Given the description of an element on the screen output the (x, y) to click on. 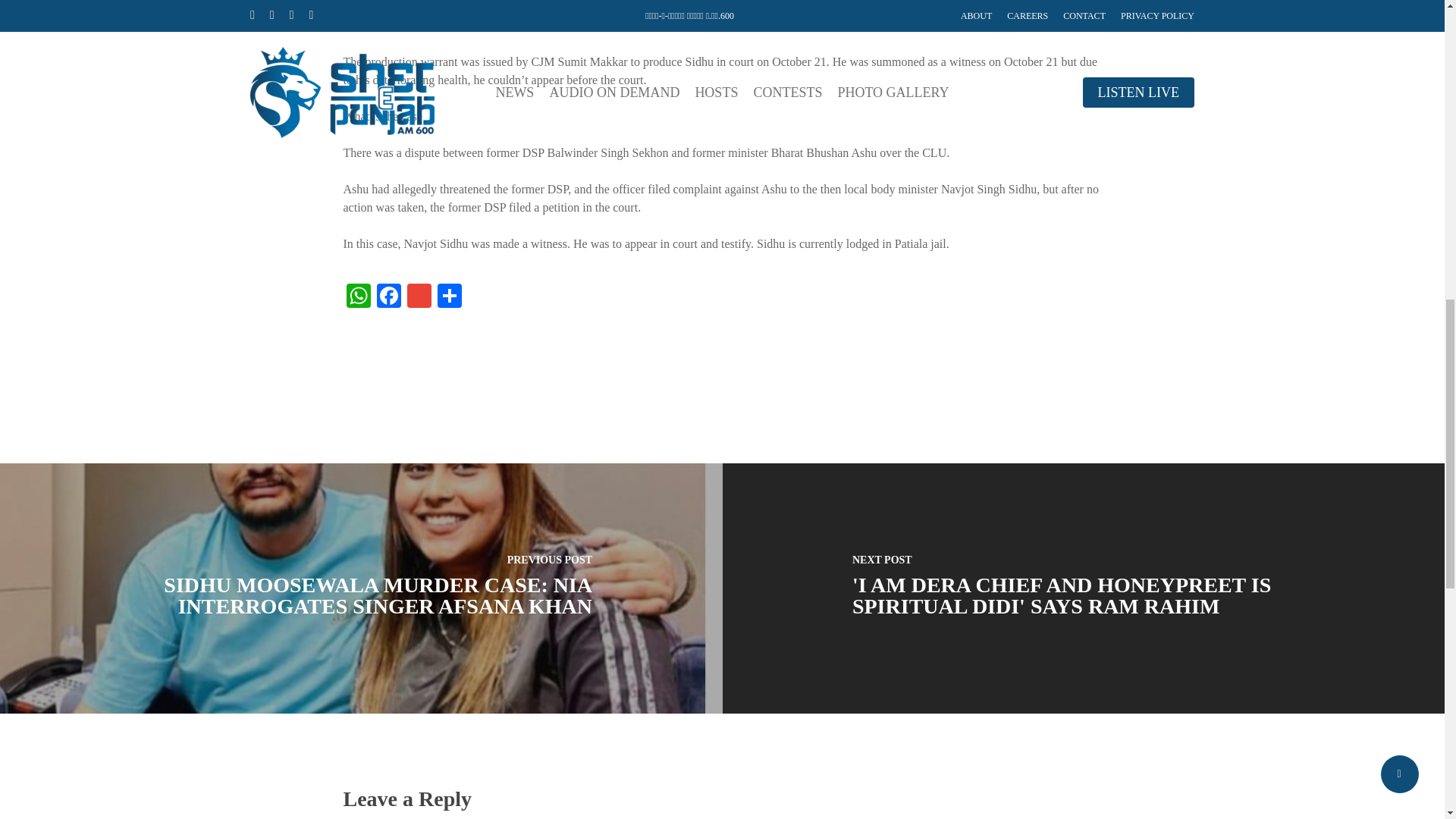
Facebook (387, 297)
Facebook (387, 297)
Gmail (418, 297)
WhatsApp (357, 297)
WhatsApp (357, 297)
Gmail (418, 297)
